Given the description of an element on the screen output the (x, y) to click on. 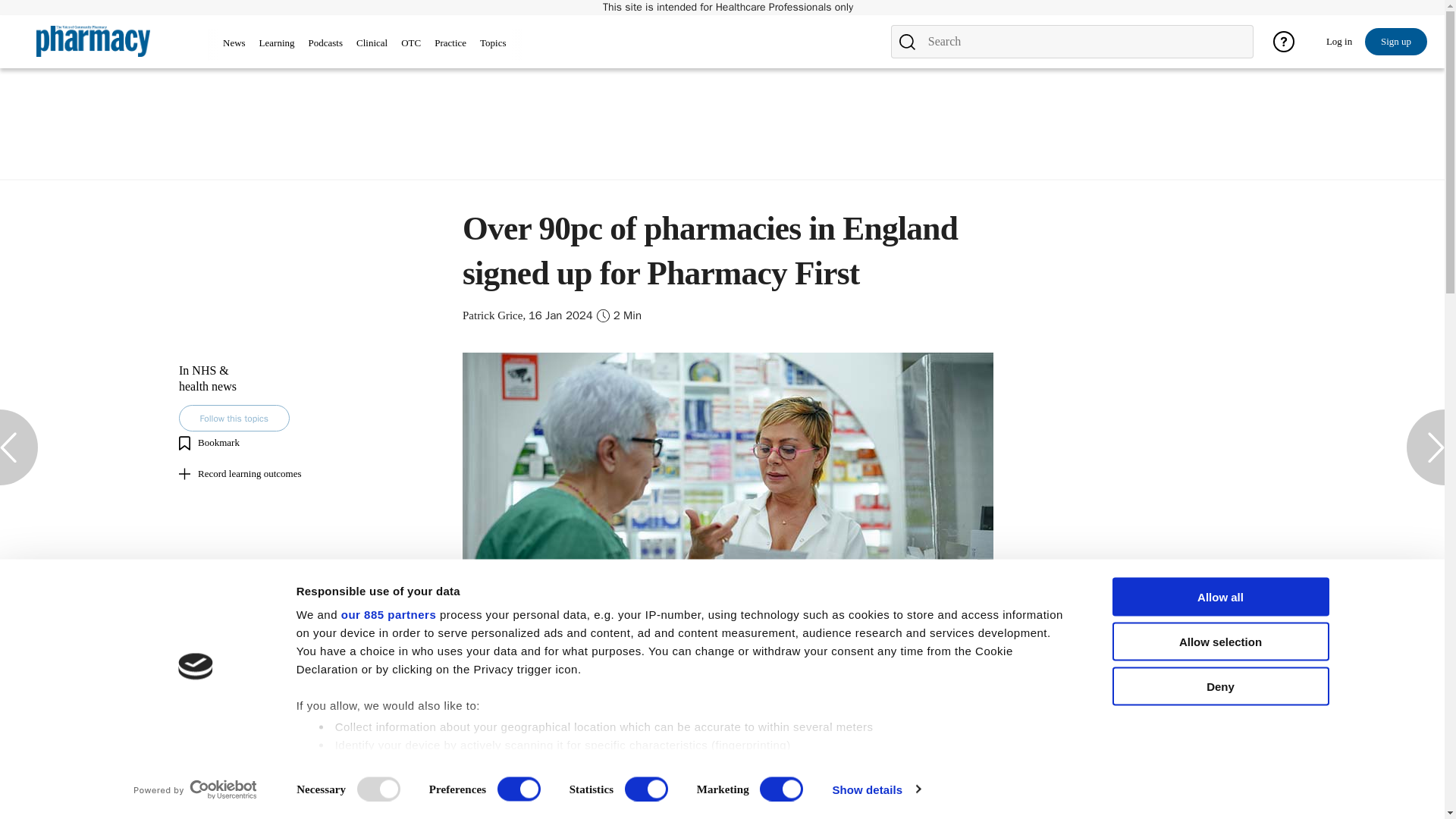
our 885 partners (388, 614)
details section (825, 765)
Show details (875, 789)
